Given the description of an element on the screen output the (x, y) to click on. 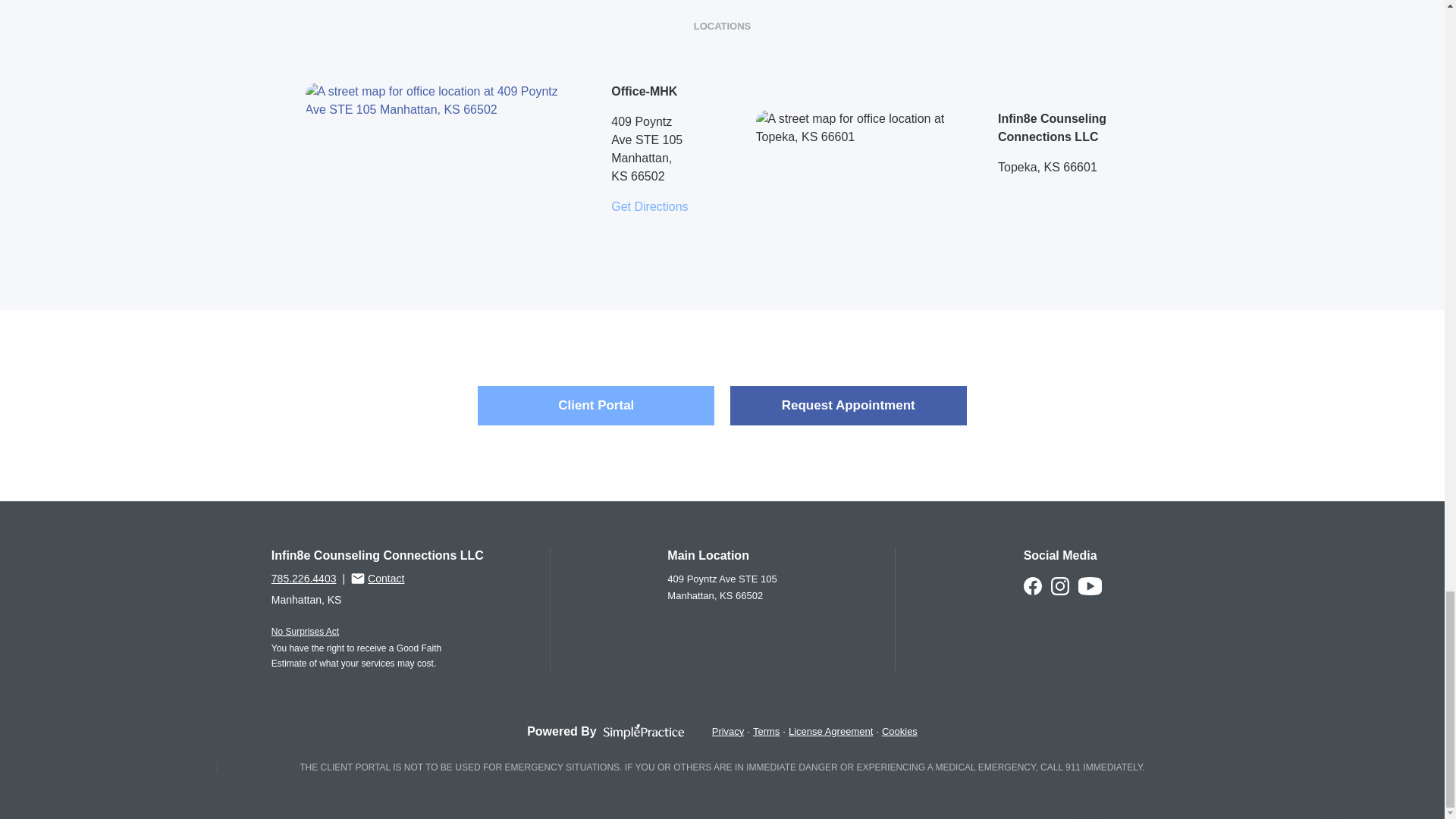
Follow Us on YouTube (1090, 591)
Follow Us on Instagram (1059, 591)
Privacy (727, 731)
Client Portal (595, 405)
No Surprises Act (304, 631)
Cookies (899, 731)
785.226.4403 (303, 578)
Terms (765, 731)
Follow Us on Facebook (1032, 591)
Get Directions (649, 205)
